Given the description of an element on the screen output the (x, y) to click on. 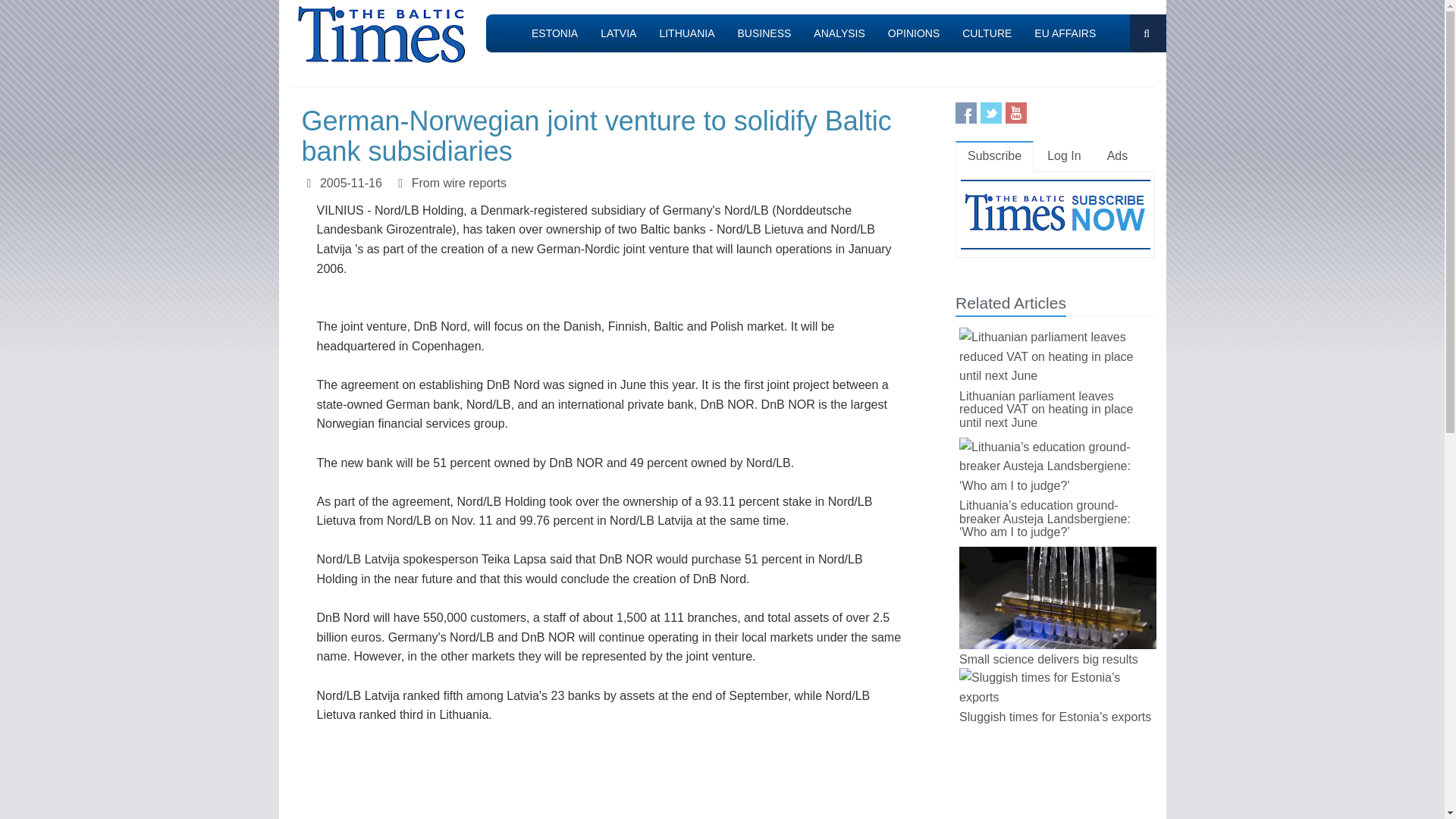
Log In (1064, 155)
LITHUANIA (686, 33)
ESTONIA (554, 33)
CULTURE (986, 33)
BUSINESS (764, 33)
Subscribe (994, 155)
LATVIA (618, 33)
ANALYSIS (839, 33)
OPINIONS (913, 33)
